Given the description of an element on the screen output the (x, y) to click on. 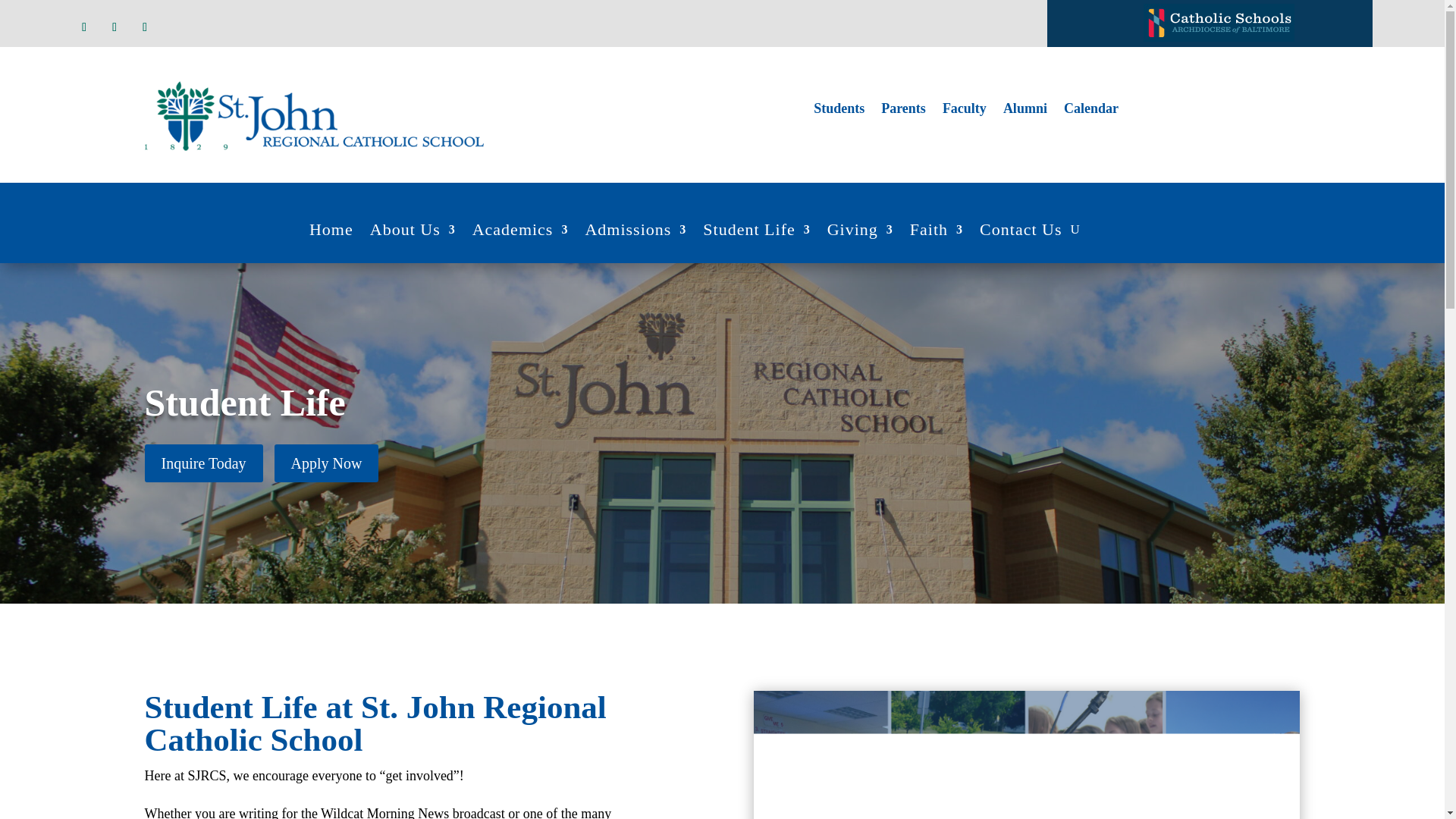
CSAOB (1218, 22)
Follow on Instagram (113, 27)
Faculty (964, 111)
Follow on Facebook (83, 27)
Students (838, 111)
Parents (903, 111)
Calendar (1091, 111)
logo (313, 114)
Follow on Youtube (144, 27)
Alumni (1024, 111)
